Given the description of an element on the screen output the (x, y) to click on. 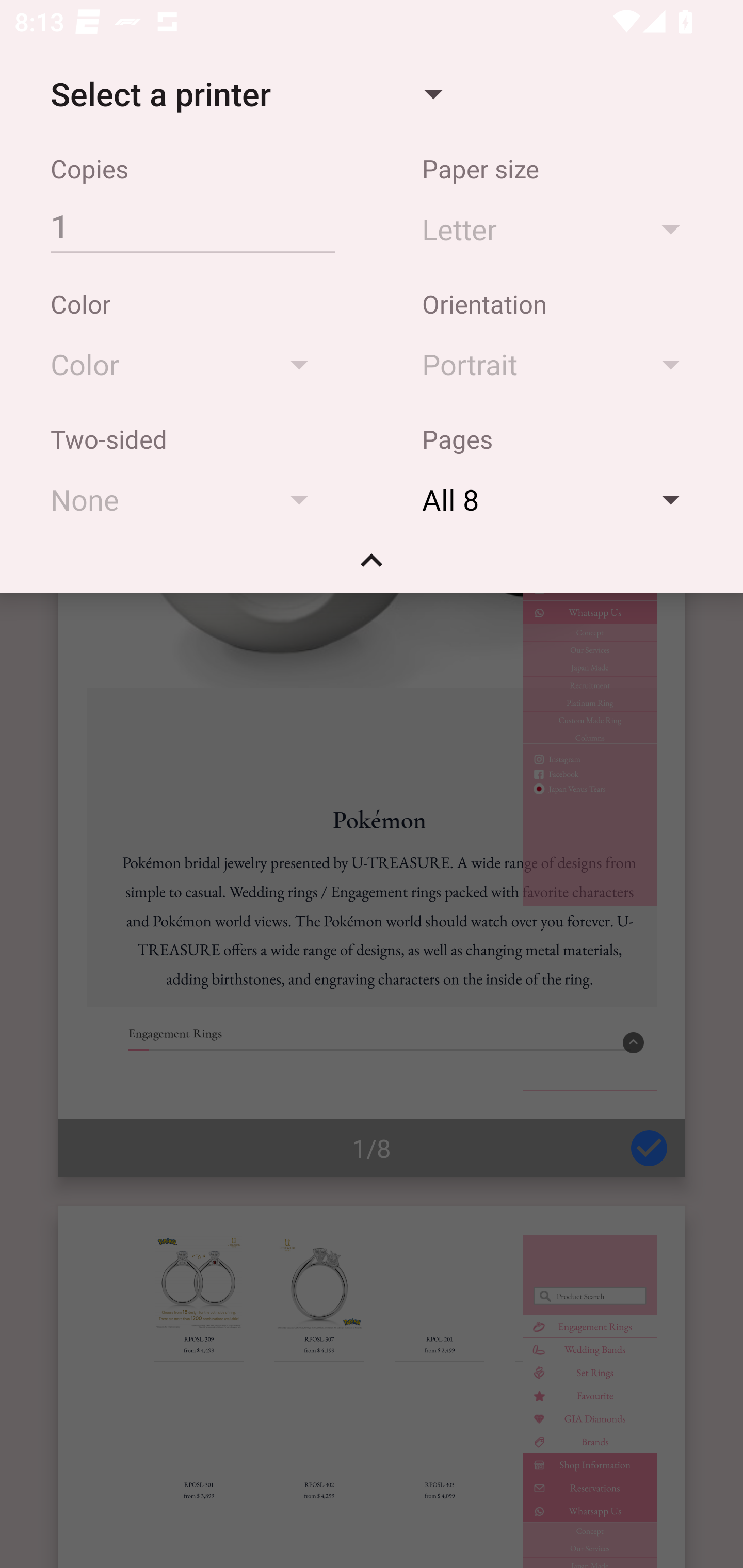
Select a printer (245, 93)
1 (192, 225)
Letter (560, 228)
Color (189, 364)
Portrait (560, 364)
None (189, 499)
All 8 (560, 499)
Collapse handle (371, 567)
